Given the description of an element on the screen output the (x, y) to click on. 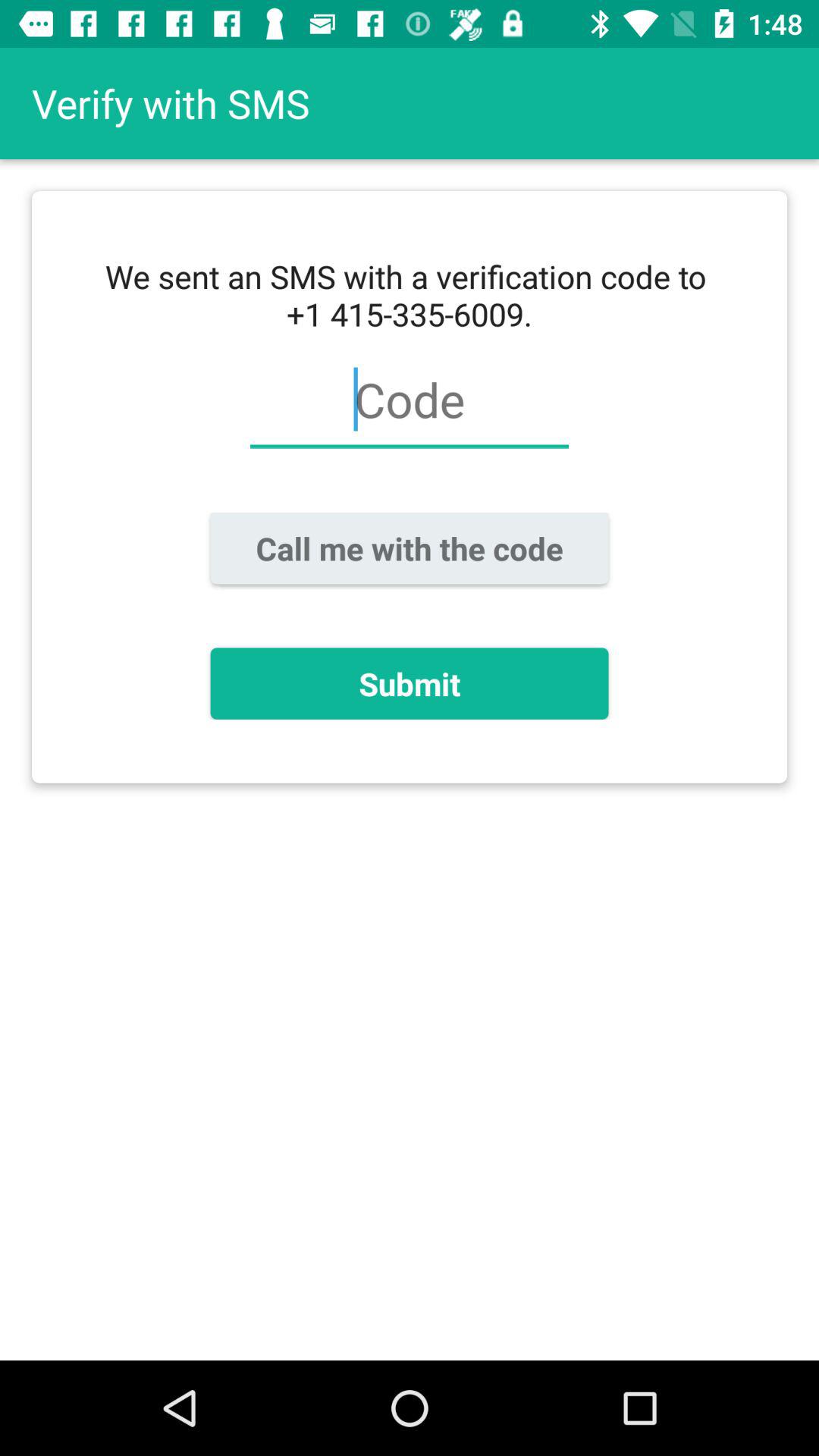
flip to the submit (409, 683)
